Given the description of an element on the screen output the (x, y) to click on. 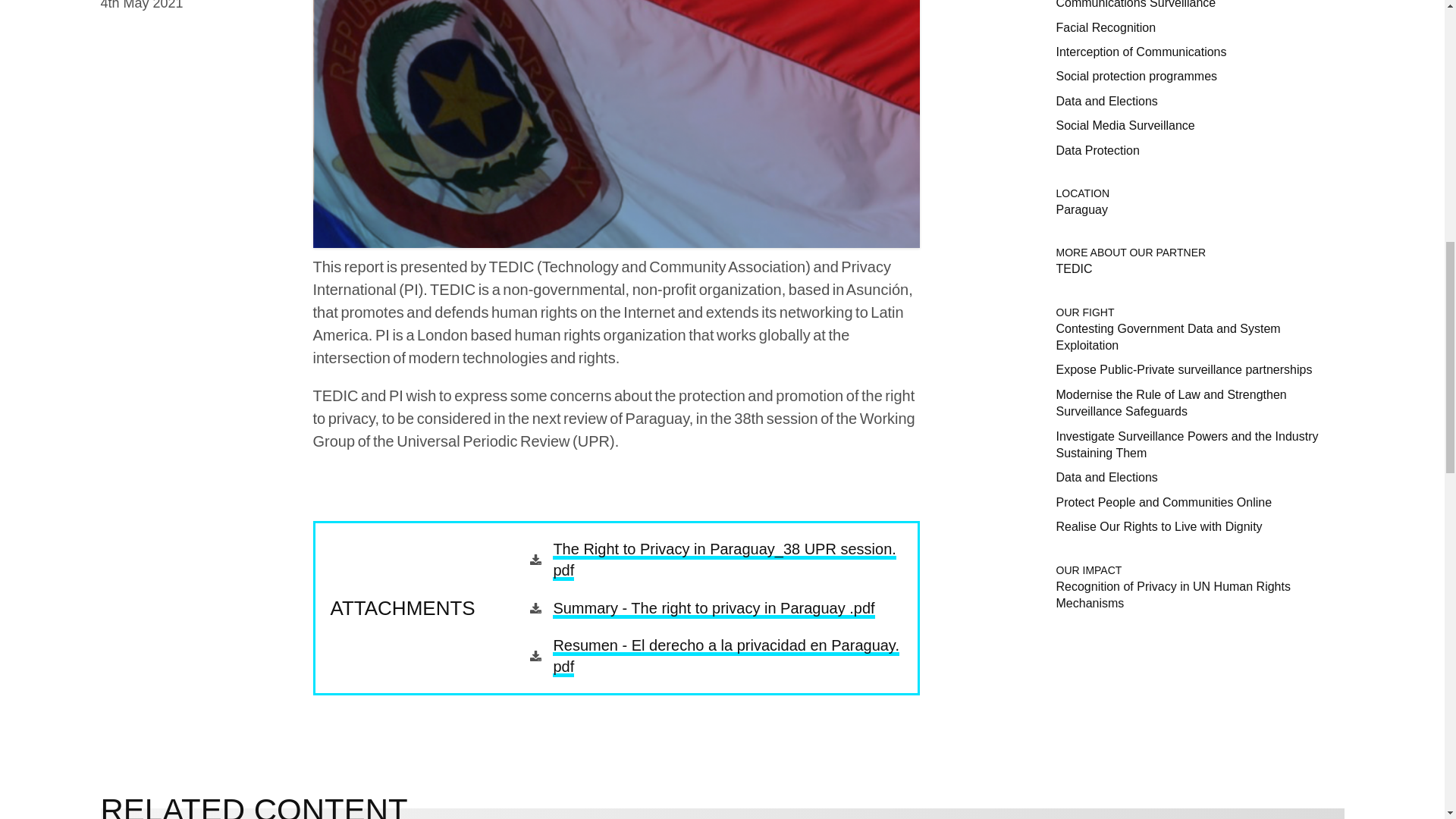
TEDIC (1073, 267)
Data Protection (1096, 149)
Contesting Government Data and System Exploitation (1167, 335)
Realise Our Rights to Live with Dignity (1158, 525)
Data and Elections (1106, 99)
Protect People and Communities Online (1163, 501)
Expose Public-Private surveillance partnerships (1183, 368)
Social protection programmes (1136, 75)
